Given the description of an element on the screen output the (x, y) to click on. 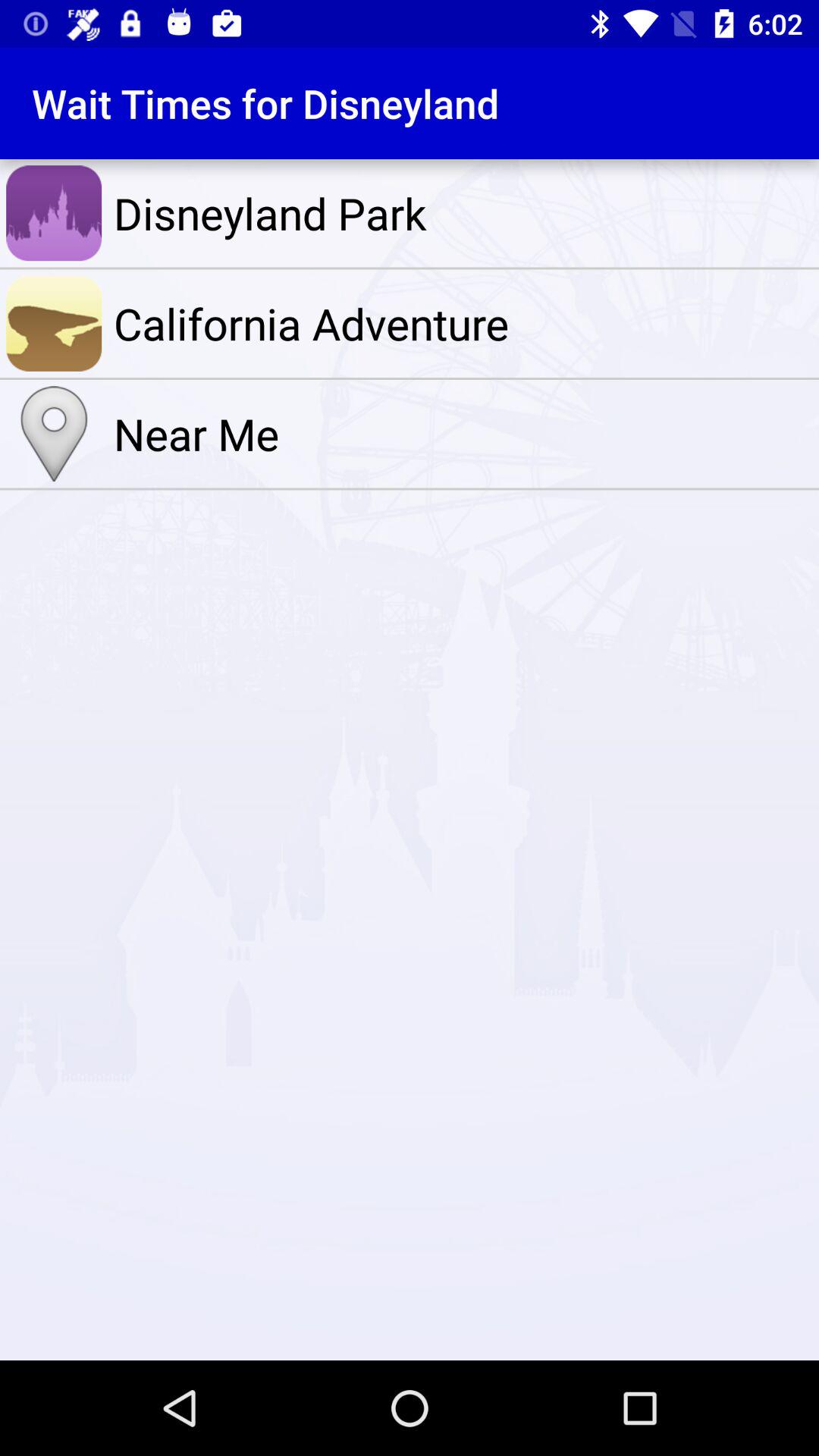
swipe until the near me (462, 433)
